Given the description of an element on the screen output the (x, y) to click on. 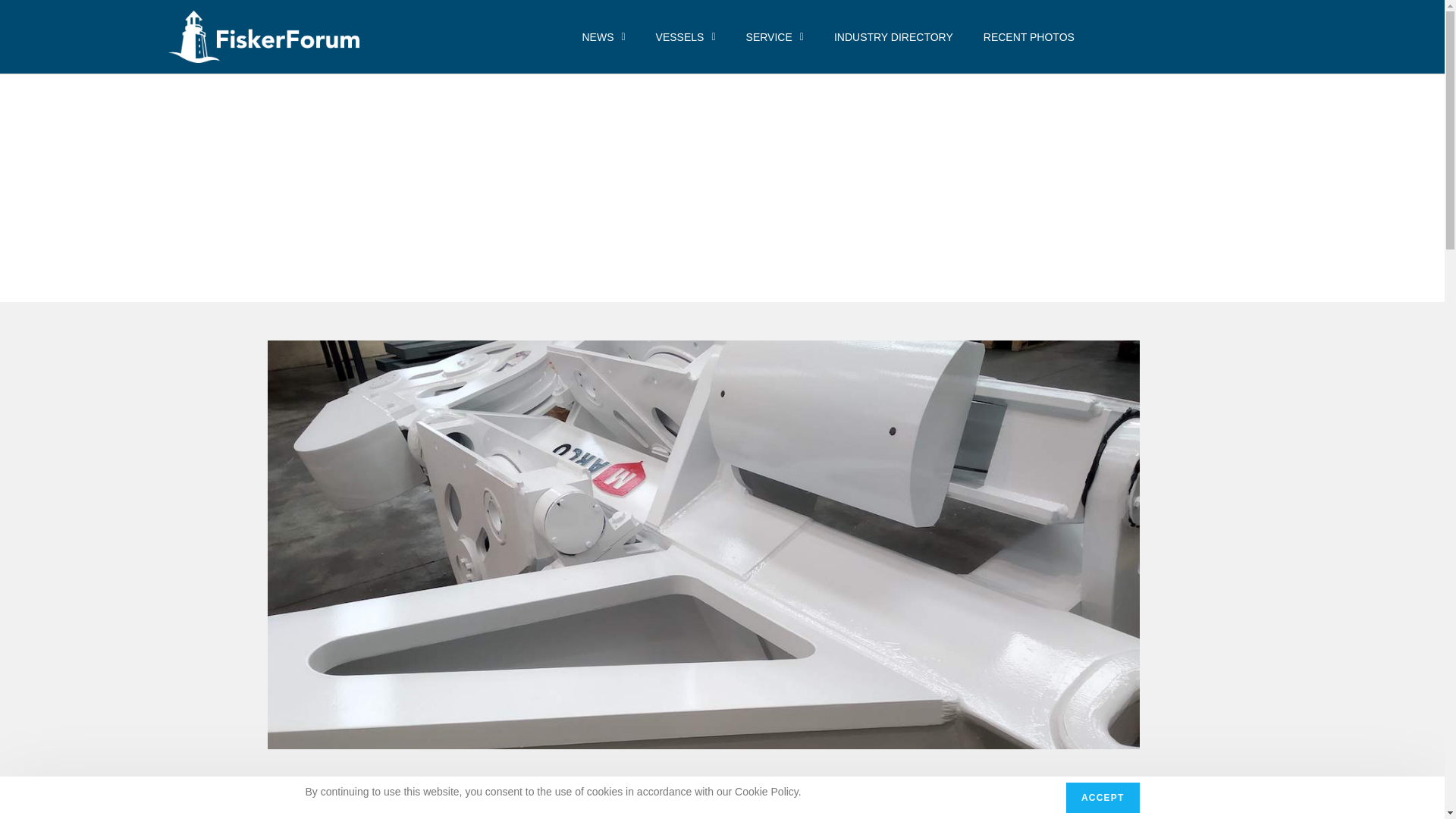
NEWS (603, 36)
